Given the description of an element on the screen output the (x, y) to click on. 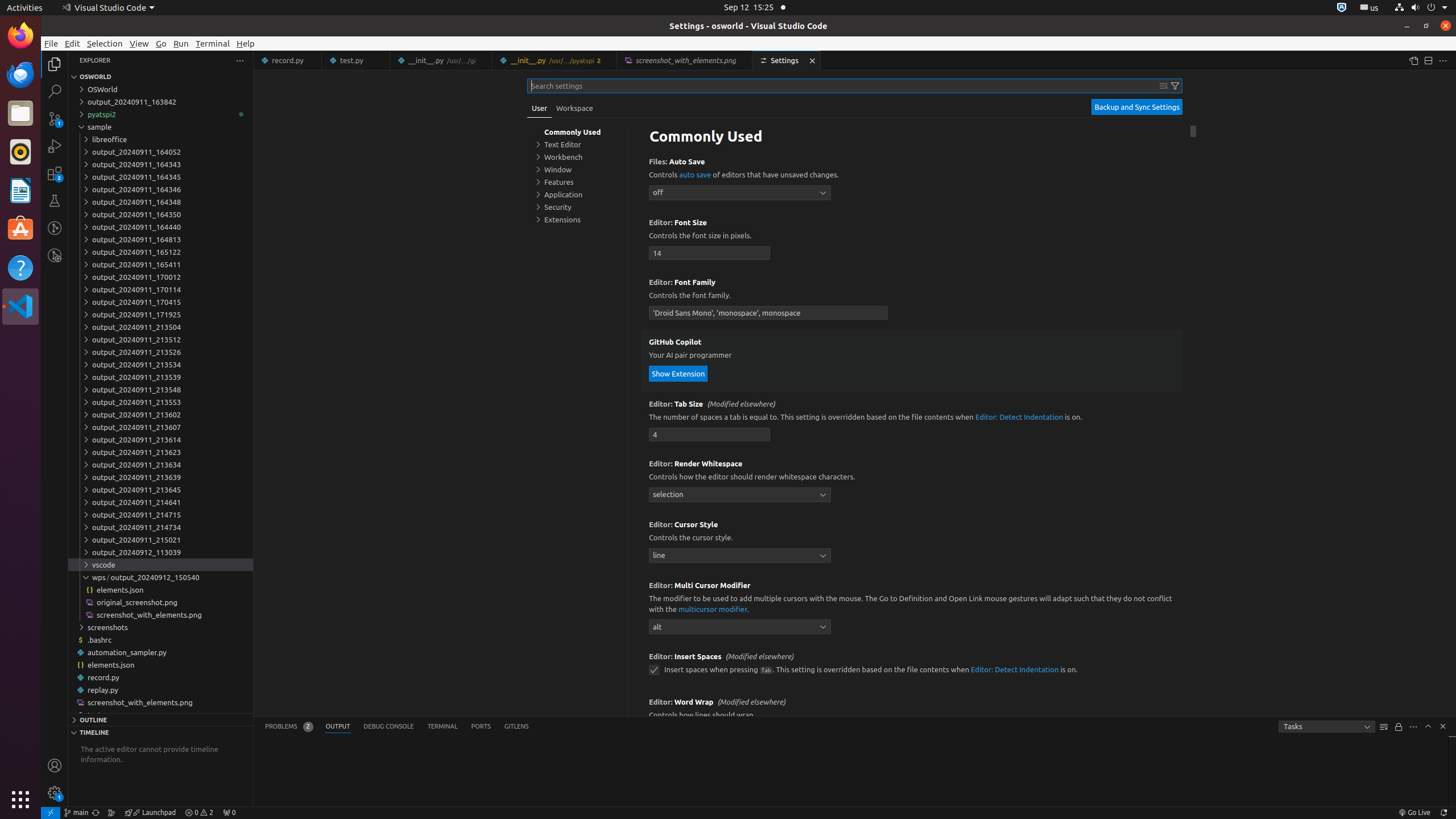
Extensions (Ctrl+Shift+X) - 2 require restart Extensions (Ctrl+Shift+X) - 2 require restart Element type: page-tab (54, 173)
output_20240911_164345 Element type: tree-item (160, 176)
Settings Element type: page-tab (786, 60)
original_screenshot.png Element type: tree-item (160, 602)
